Given the description of an element on the screen output the (x, y) to click on. 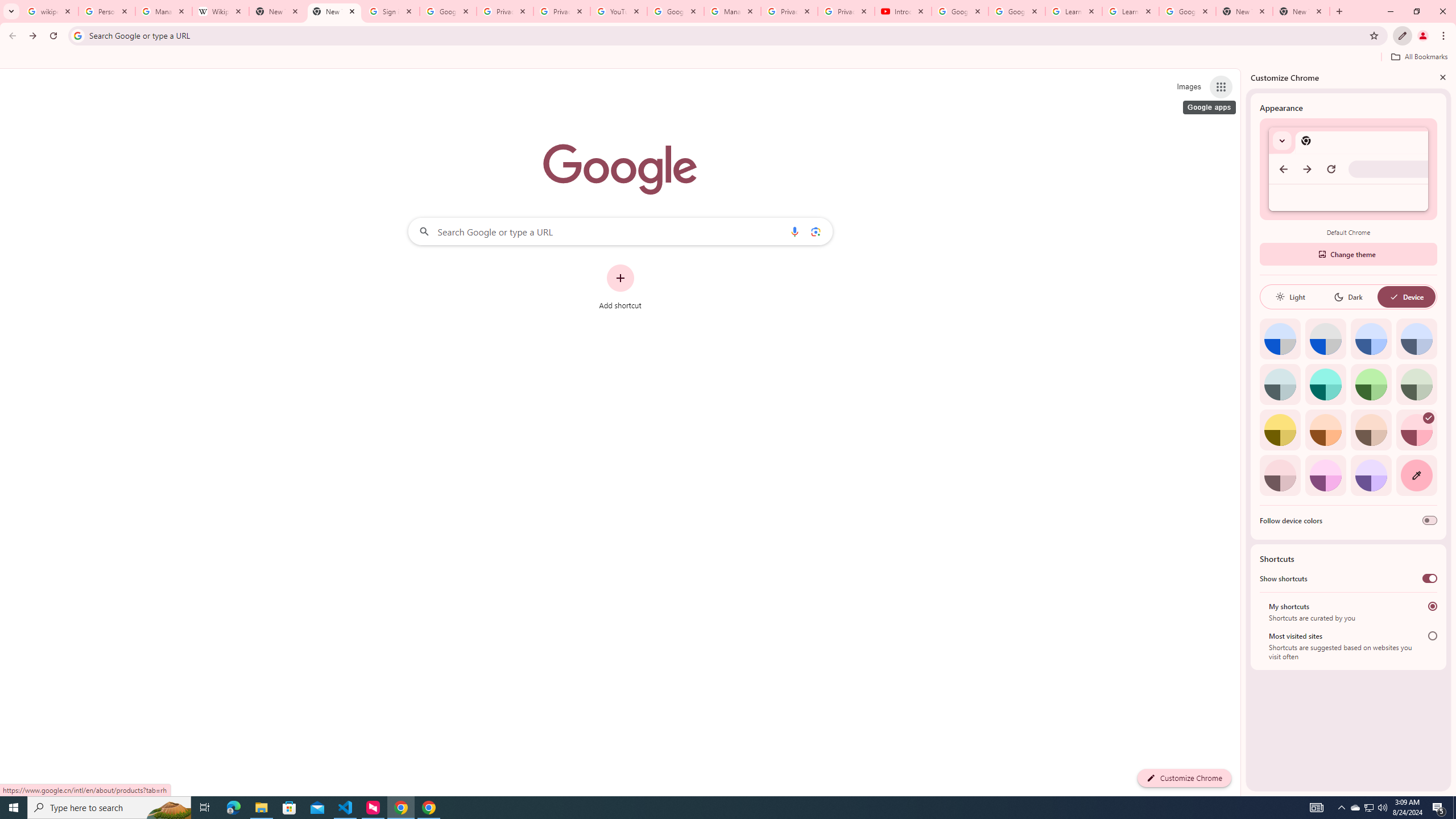
Grey (1279, 383)
New Tab (334, 11)
Pink (1279, 475)
Green (1371, 383)
Rose (1416, 429)
Search Google or type a URL (619, 230)
Google Account (1187, 11)
Google Drive: Sign-in (447, 11)
